Given the description of an element on the screen output the (x, y) to click on. 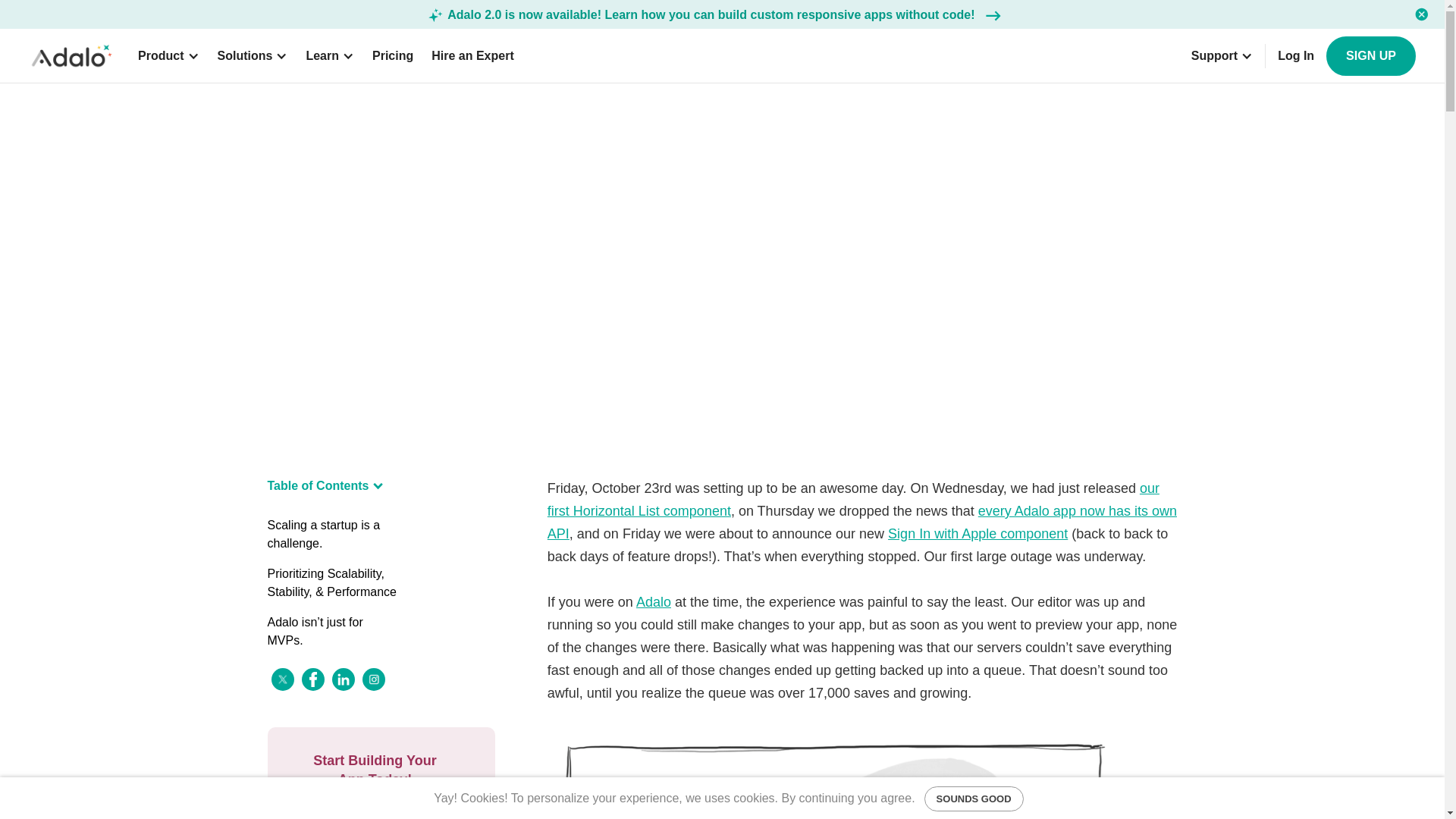
Scaling a startup is a challenge. (332, 534)
Pricing (392, 55)
Hire an Expert (472, 55)
SIGN UP (1370, 56)
Log In (1295, 55)
